Given the description of an element on the screen output the (x, y) to click on. 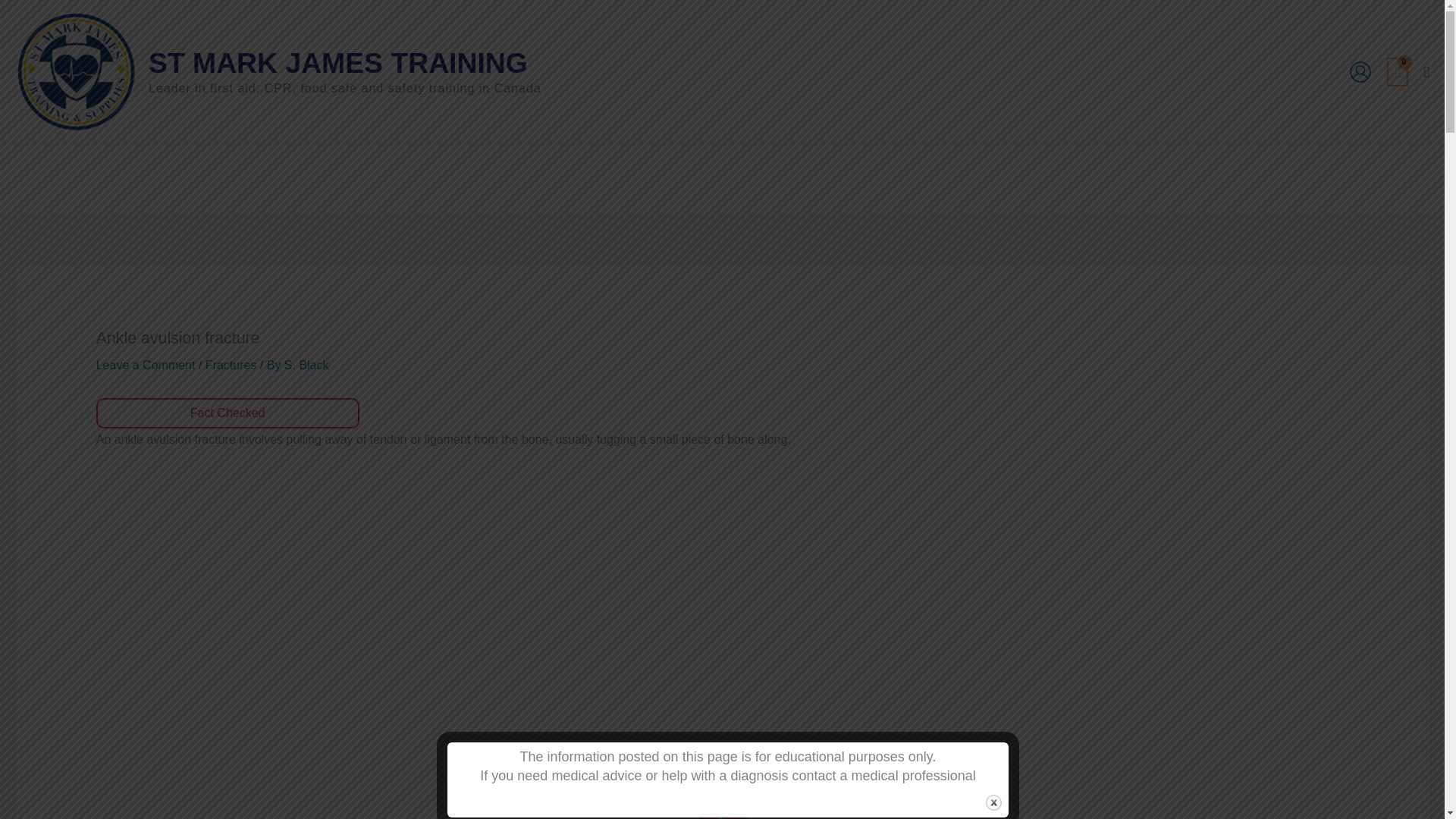
ST MARK JAMES TRAINING (337, 62)
Locations (730, 180)
Account (806, 180)
Courses (479, 180)
Checkout (649, 180)
On-Line Courses (897, 180)
